Given the description of an element on the screen output the (x, y) to click on. 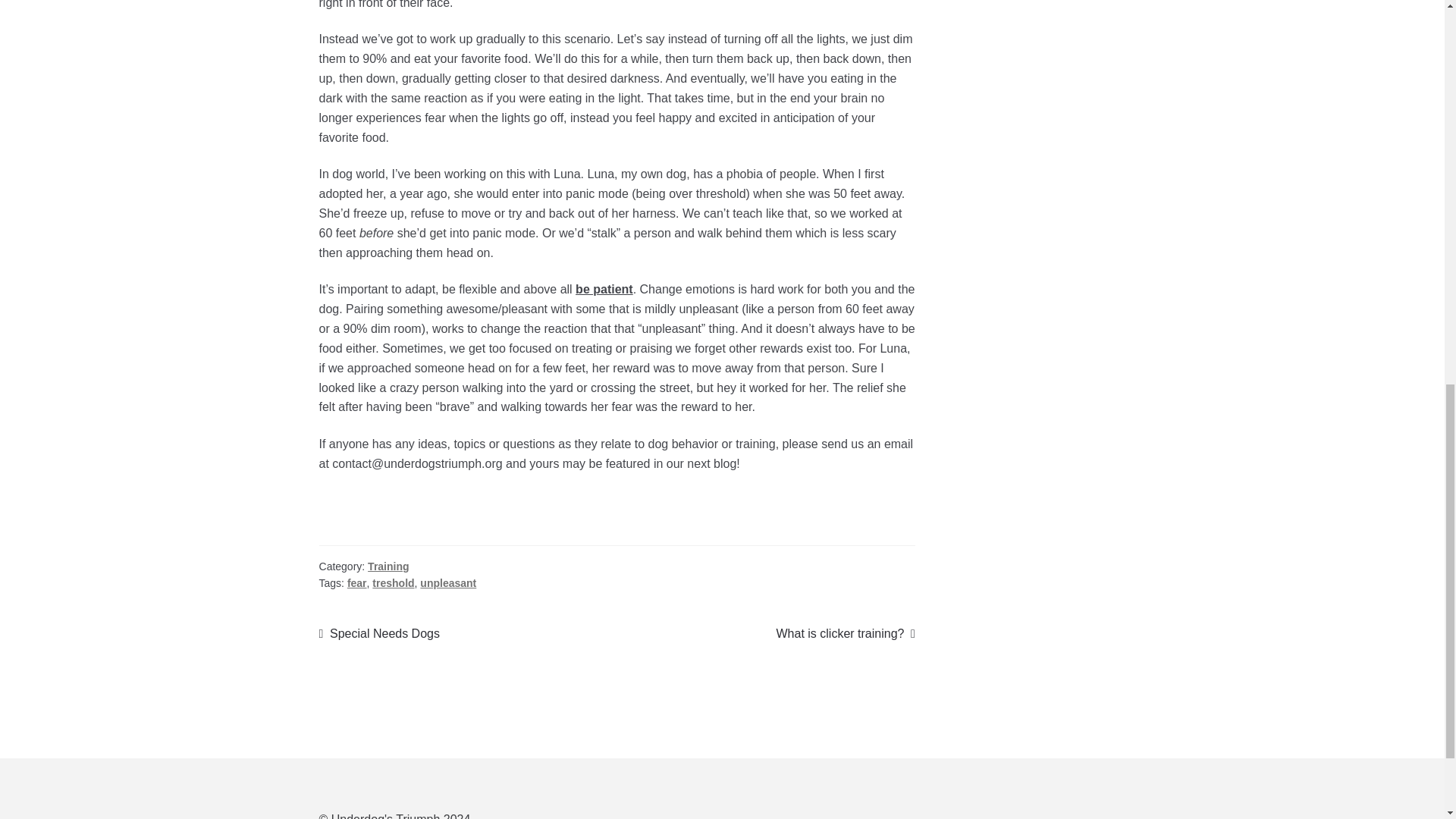
unpleasant (378, 633)
treshold (845, 633)
fear (448, 582)
Training (392, 582)
